Given the description of an element on the screen output the (x, y) to click on. 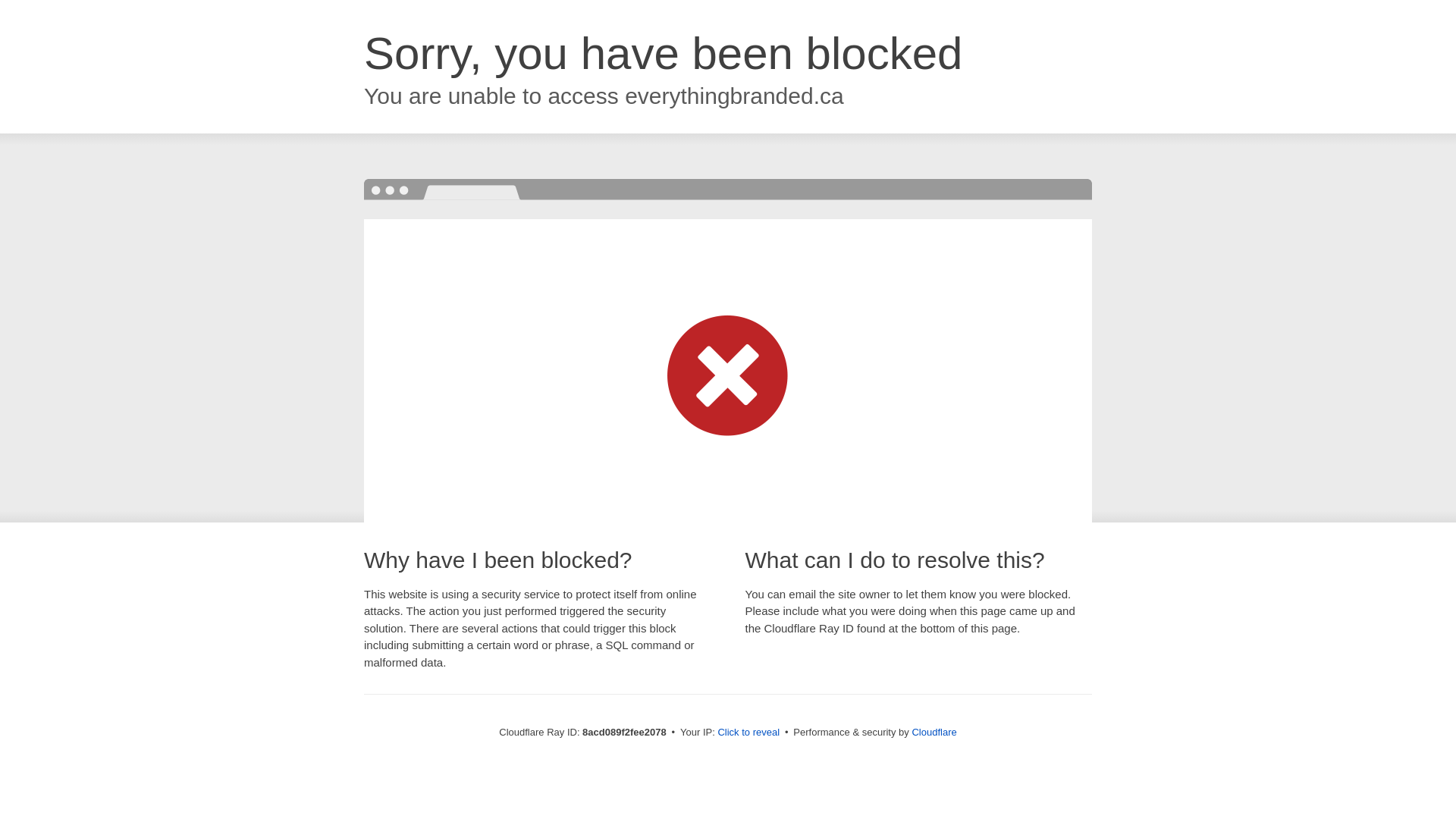
Click to reveal (747, 732)
Cloudflare (933, 731)
